Given the description of an element on the screen output the (x, y) to click on. 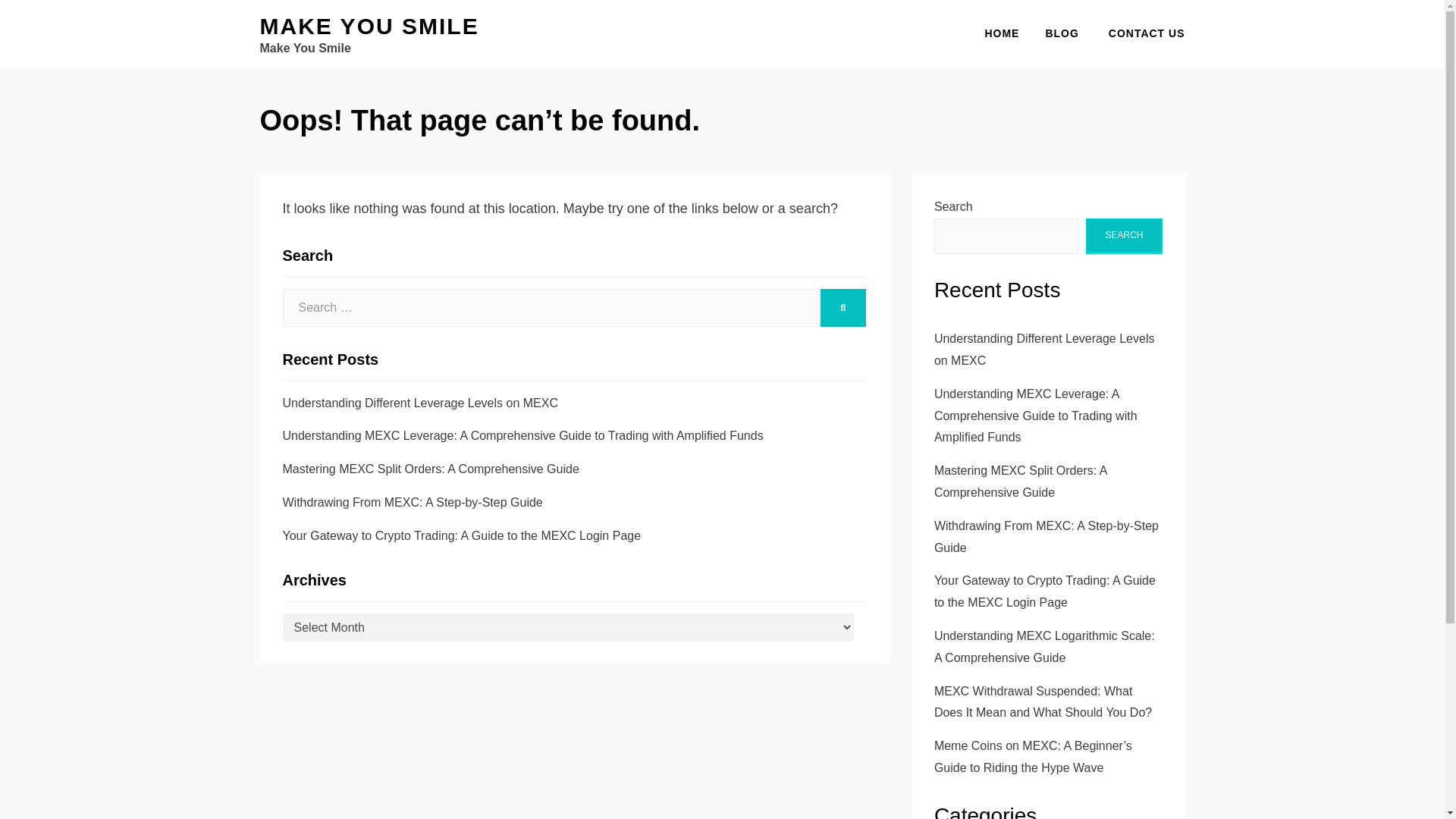
Withdrawing From MEXC: A Step-by-Step Guide (411, 502)
SEARCH (843, 307)
SEARCH (1123, 235)
BLOG (1061, 33)
MAKE YOU SMILE (369, 25)
Mastering MEXC Split Orders: A Comprehensive Guide (430, 468)
 CONTACT US (1138, 33)
